Given the description of an element on the screen output the (x, y) to click on. 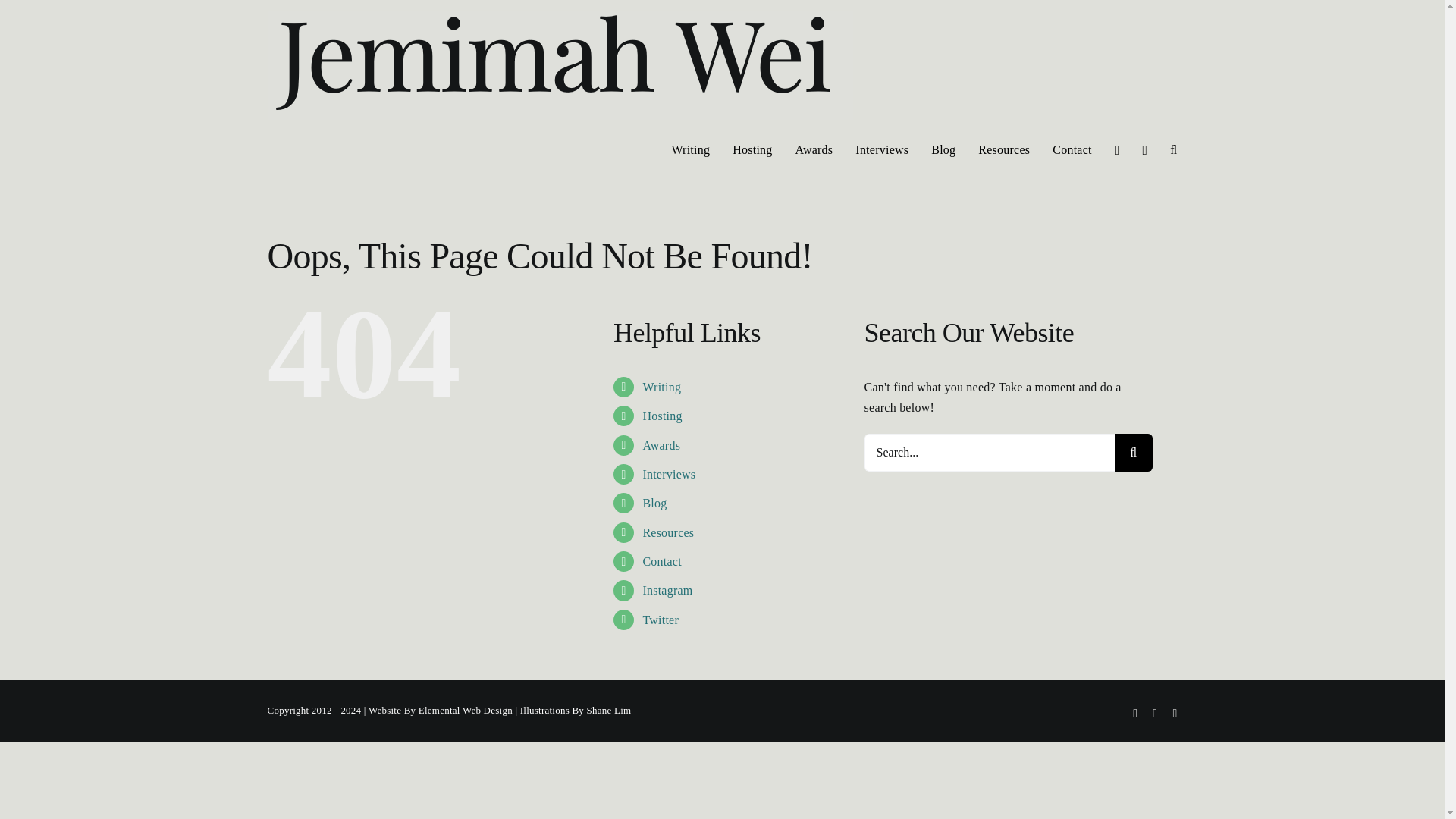
Blog (654, 502)
Twitter (660, 619)
My appearances (661, 415)
Interviews (668, 473)
Get in contact with me (661, 561)
Visit my Twitter (660, 619)
My Awards (660, 445)
Contact (661, 561)
My Interviews (668, 473)
My writing (661, 386)
Visit my Instagram (667, 590)
Resources (668, 532)
Hosting (661, 415)
Instagram (667, 590)
Writing (661, 386)
